Given the description of an element on the screen output the (x, y) to click on. 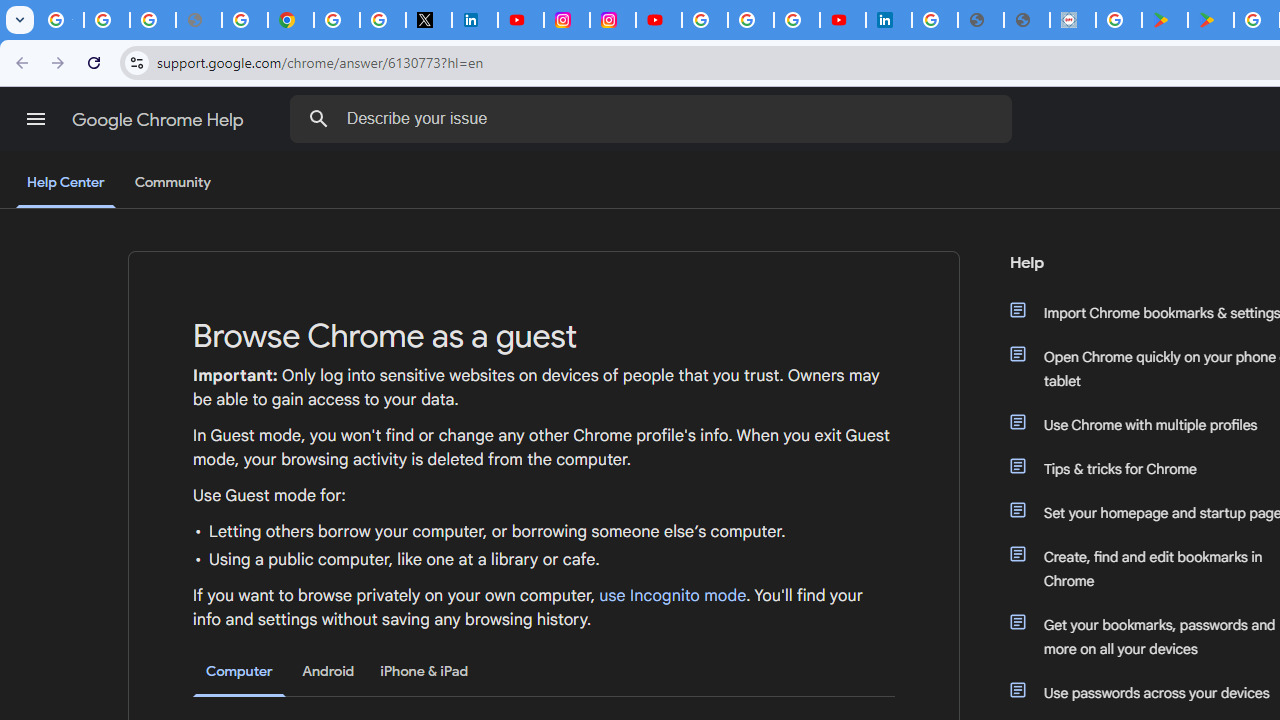
iPhone & iPad (424, 671)
Android (328, 671)
google_privacy_policy_en.pdf (980, 20)
X (428, 20)
Data Privacy Framework (1072, 20)
YouTube Content Monetization Policies - How YouTube Works (520, 20)
Describe your issue (653, 118)
